Given the description of an element on the screen output the (x, y) to click on. 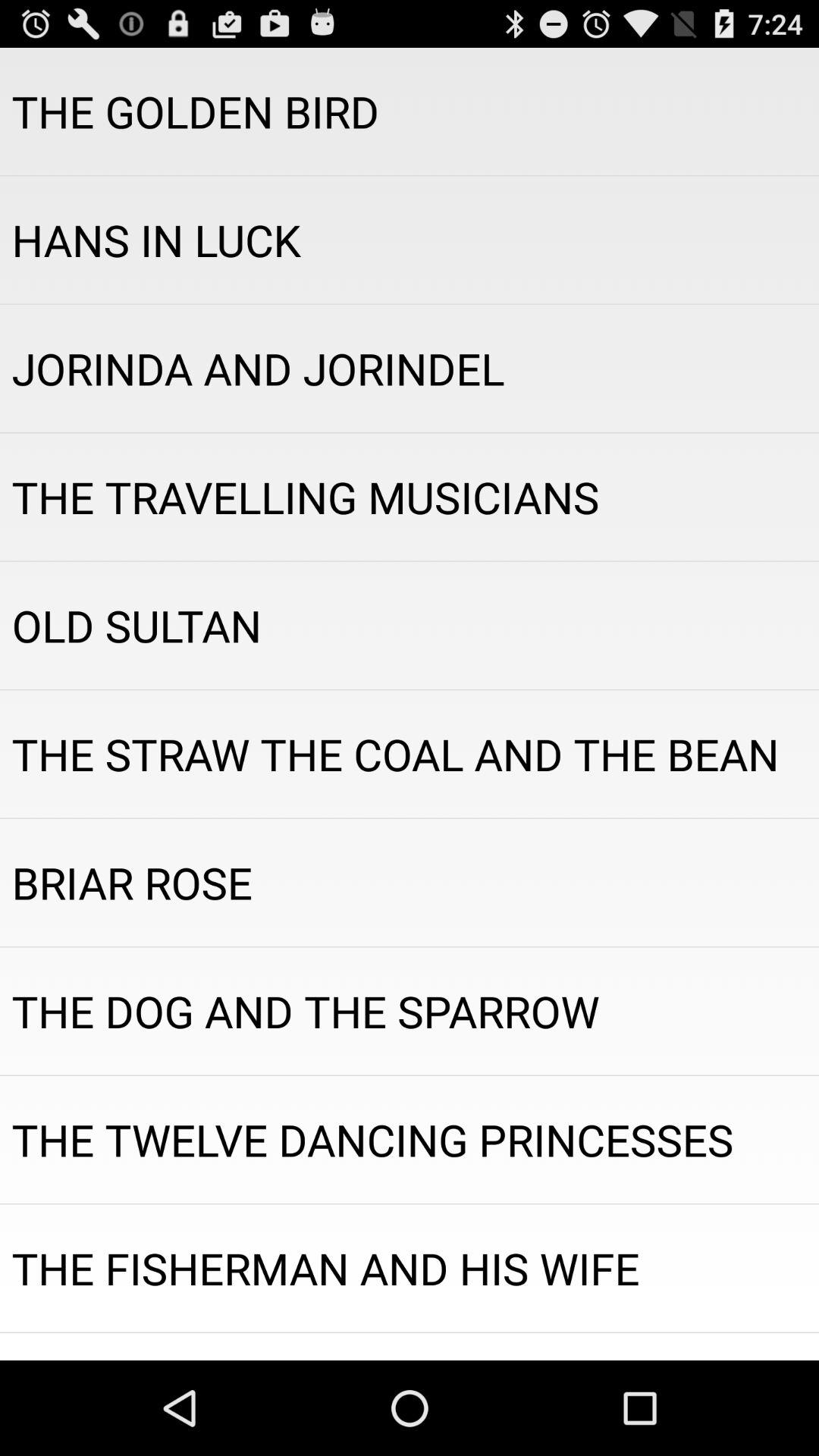
press the straw the icon (409, 753)
